Given the description of an element on the screen output the (x, y) to click on. 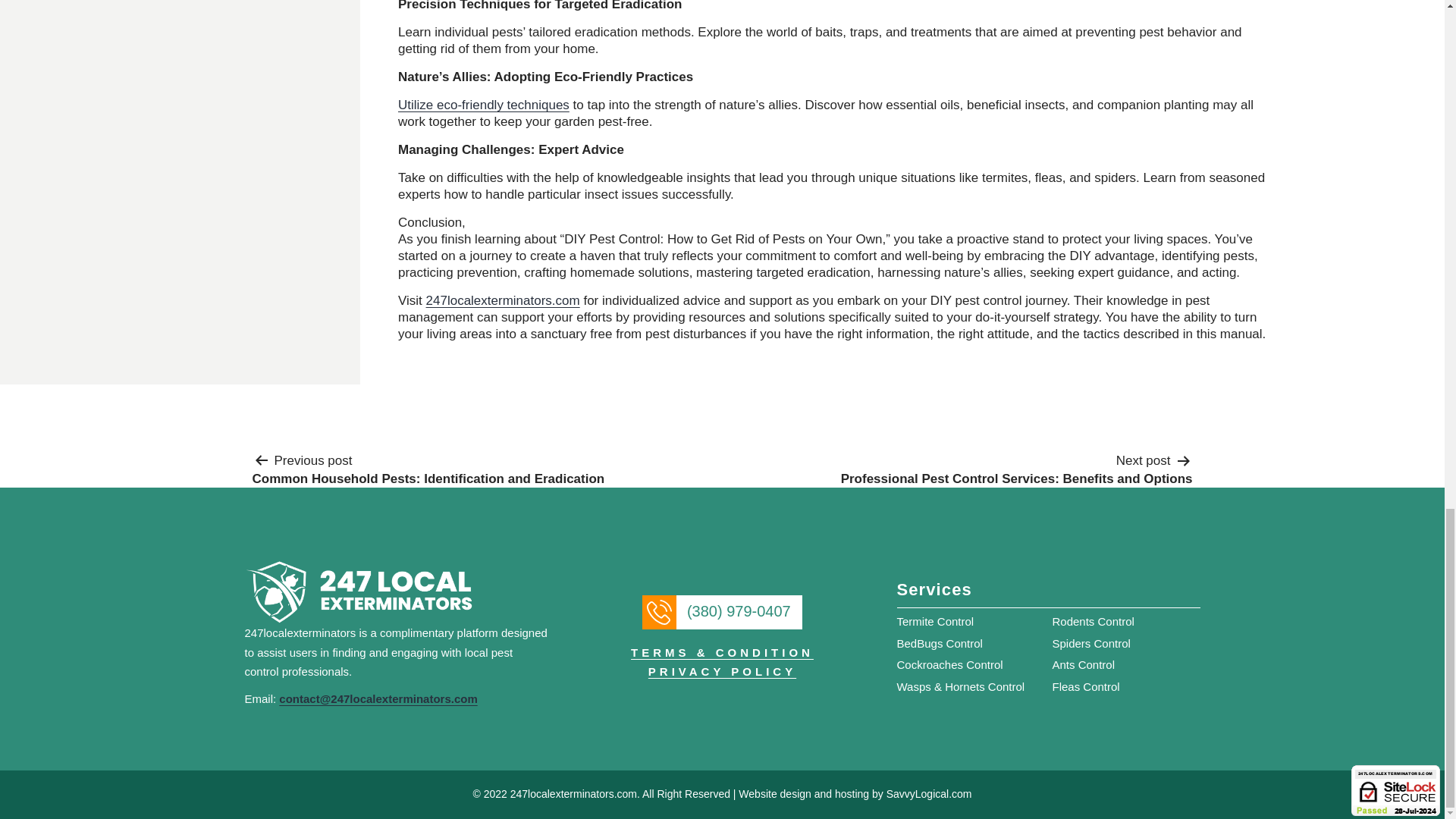
SiteLock (1395, 789)
247localexterminators.com (502, 300)
Utilize eco-friendly techniques (483, 104)
